Given the description of an element on the screen output the (x, y) to click on. 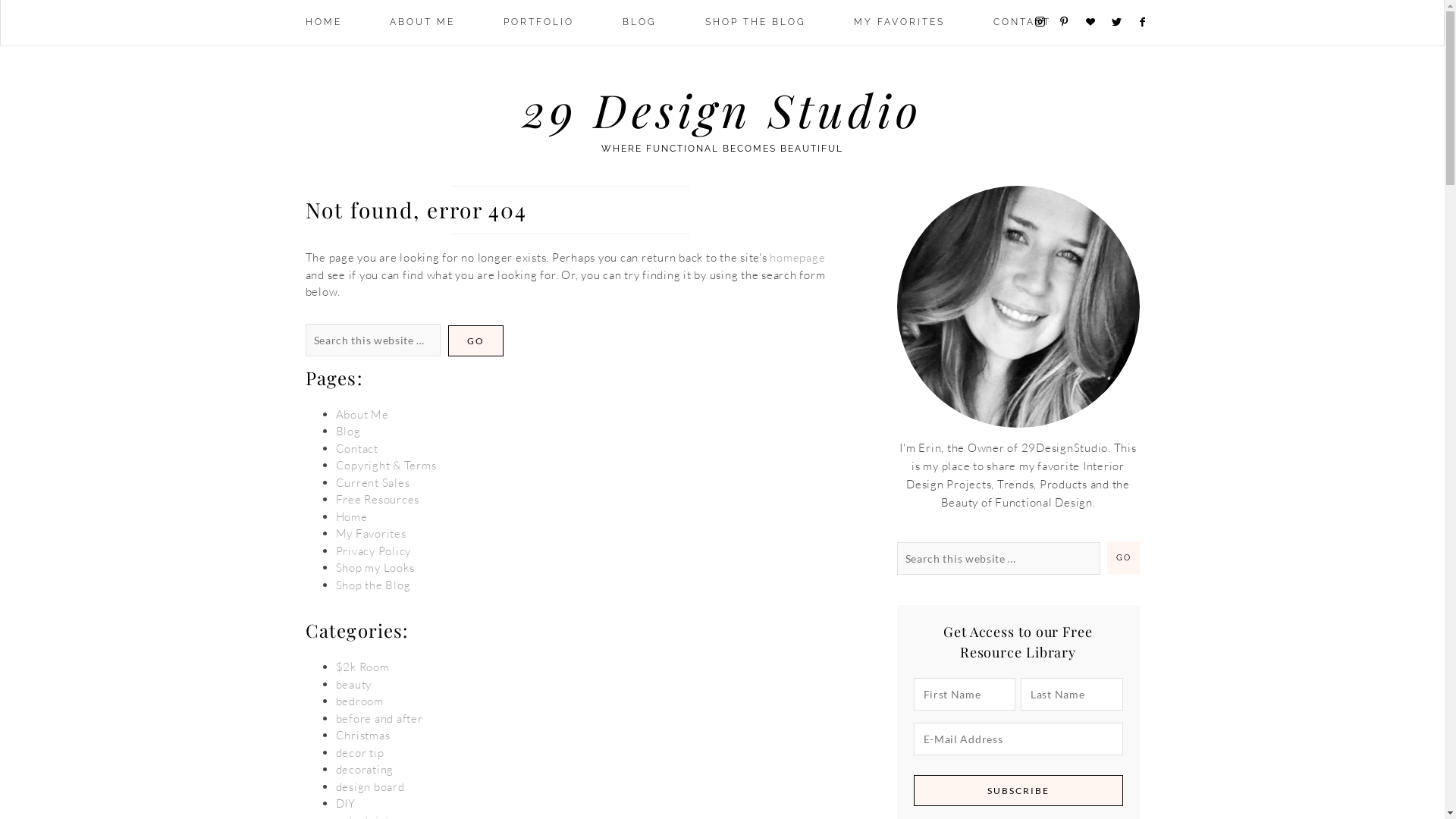
bedroom Element type: text (358, 700)
Pinterest Element type: hover (1070, 21)
Blog Element type: text (347, 430)
ABOUT ME Element type: text (422, 22)
Contact Element type: text (356, 448)
decor tip Element type: text (359, 751)
MY FAVORITES Element type: text (899, 22)
SHOP THE BLOG Element type: text (755, 22)
Facebook Element type: hover (1148, 22)
Copyright & Terms Element type: text (385, 465)
Christmas Element type: text (362, 735)
DIY Element type: text (344, 803)
beauty Element type: text (353, 683)
Subscribe Element type: text (1017, 790)
Shop the Blog Element type: text (372, 584)
Twitter Element type: hover (1122, 22)
CONTACT Element type: text (1021, 22)
BLOG Element type: text (639, 22)
Free Resources Element type: text (377, 499)
Privacy Policy Element type: text (373, 549)
Bloglovin Element type: hover (1096, 22)
GO Element type: text (474, 339)
PORTFOLIO Element type: text (538, 22)
Current Sales Element type: text (372, 481)
My Favorites Element type: text (370, 533)
design board Element type: text (369, 786)
homepage Element type: text (797, 257)
29 Design Studio Element type: text (722, 108)
before and after Element type: text (378, 718)
decorating Element type: text (364, 769)
HOME Element type: text (323, 22)
Instagram Element type: hover (1044, 21)
Shop my Looks Element type: text (374, 567)
GO Element type: text (1123, 557)
$2k Room Element type: text (362, 666)
Home Element type: text (351, 516)
About Me Element type: text (361, 413)
